Given the description of an element on the screen output the (x, y) to click on. 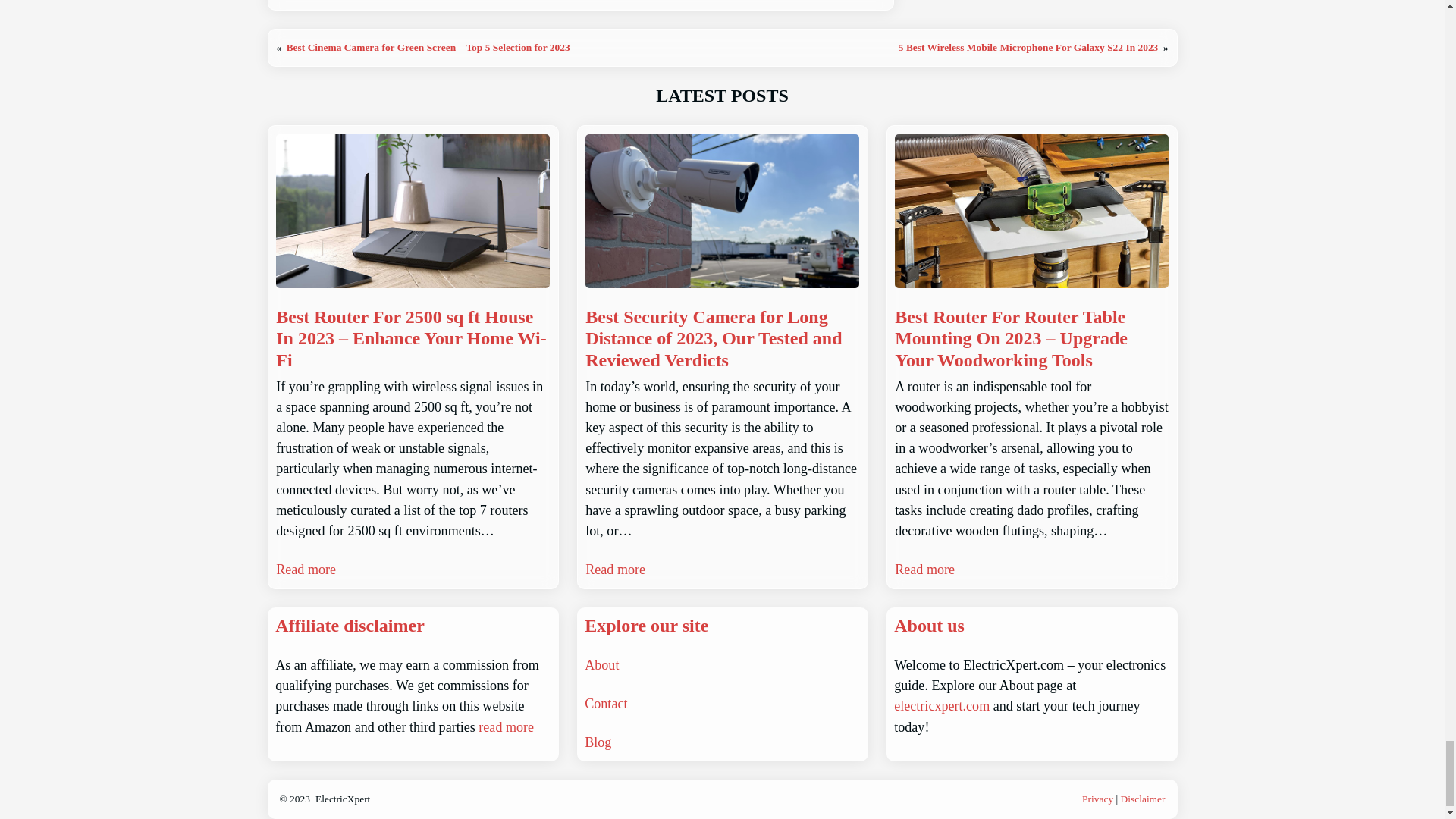
Read more (615, 569)
5 Best Wireless Mobile Microphone For Galaxy S22 In 2023 (1028, 47)
Read more (925, 569)
Read more (306, 569)
